Given the description of an element on the screen output the (x, y) to click on. 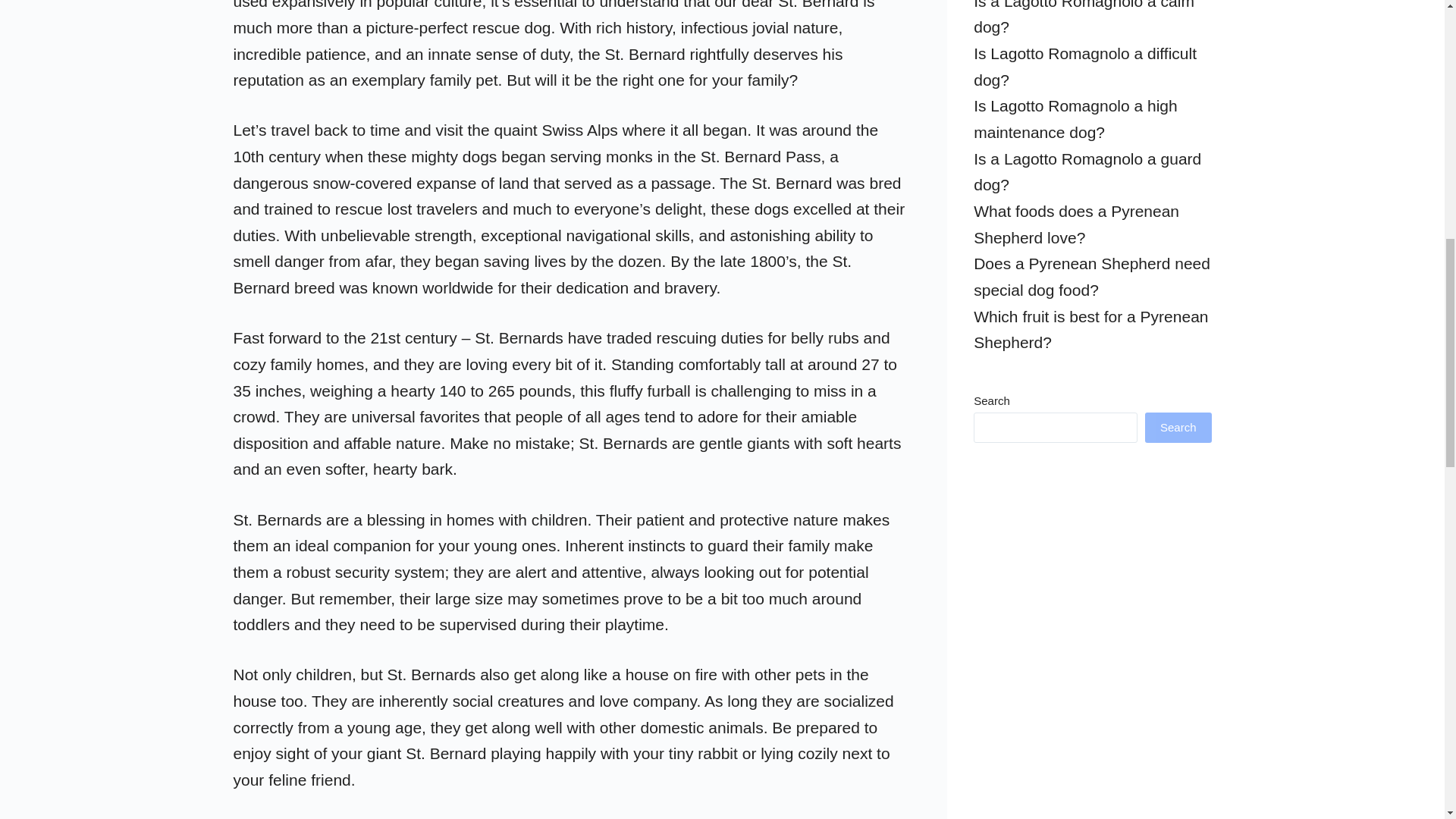
Which fruit is best for a Pyrenean Shepherd? (1091, 329)
Is Lagotto Romagnolo a difficult dog? (1085, 66)
Is a Lagotto Romagnolo a guard dog? (1087, 171)
Search (1177, 427)
Is a Lagotto Romagnolo a calm dog? (1083, 18)
Is Lagotto Romagnolo a high maintenance dog? (1075, 118)
What foods does a Pyrenean Shepherd love? (1076, 224)
Does a Pyrenean Shepherd need special dog food? (1091, 276)
